Given the description of an element on the screen output the (x, y) to click on. 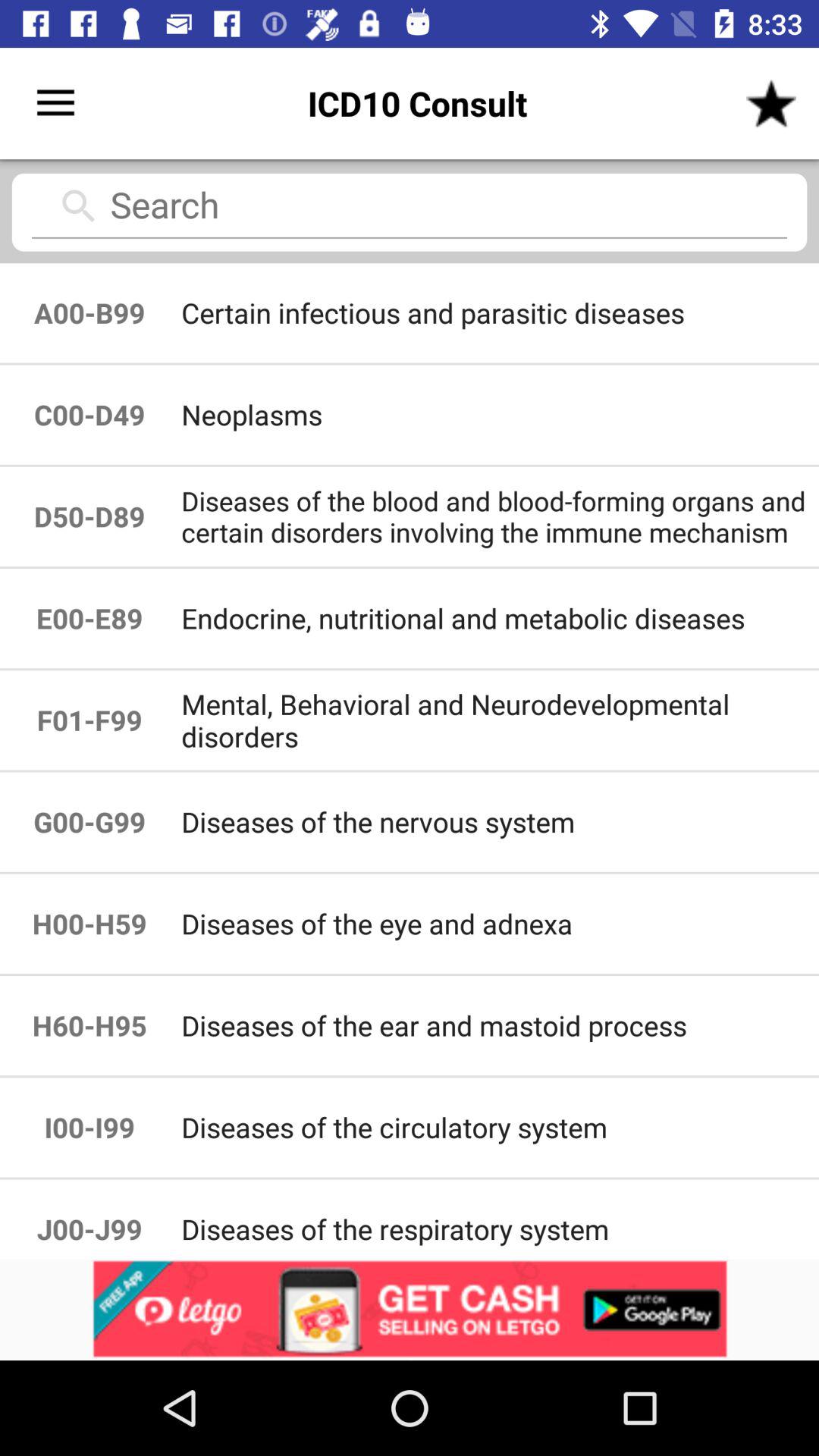
tap the i00-i99 item (89, 1127)
